Given the description of an element on the screen output the (x, y) to click on. 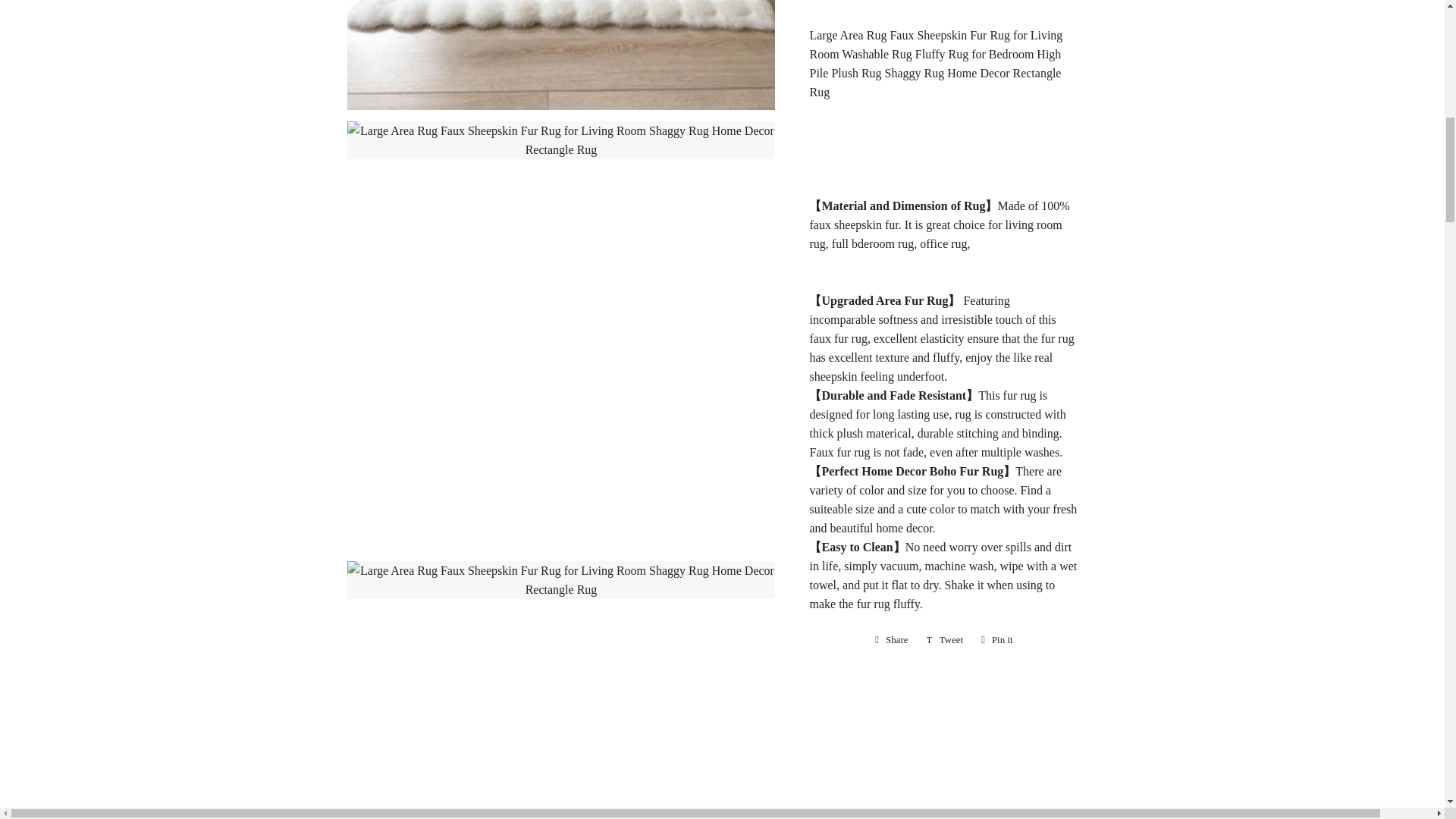
Tweet on Twitter (944, 639)
Share on Facebook (891, 639)
Pin on Pinterest (997, 639)
